Given the description of an element on the screen output the (x, y) to click on. 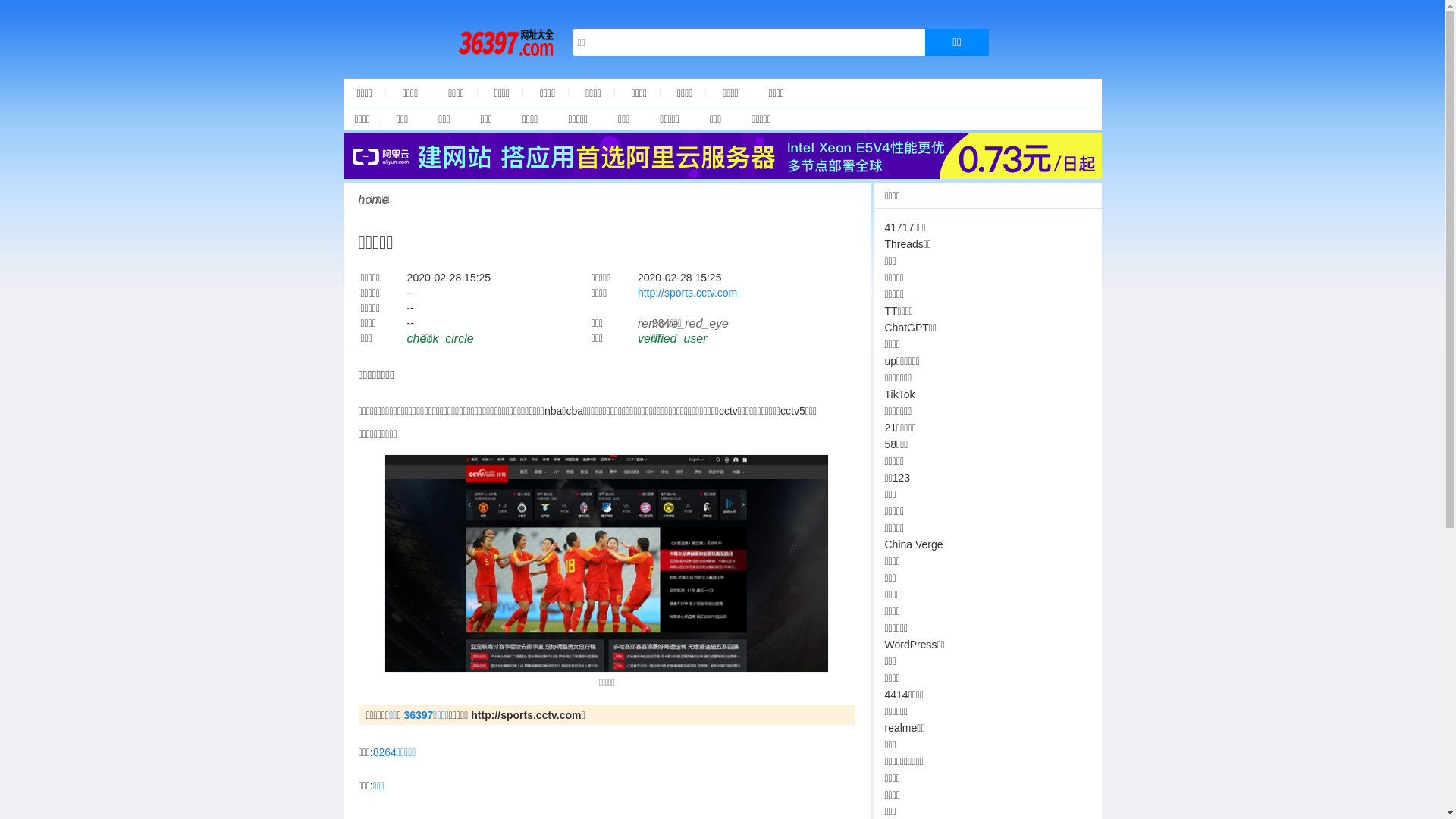
TikTok Element type: text (899, 394)
http://sports.cctv.com Element type: text (687, 292)
China Verge Element type: text (913, 544)
